Given the description of an element on the screen output the (x, y) to click on. 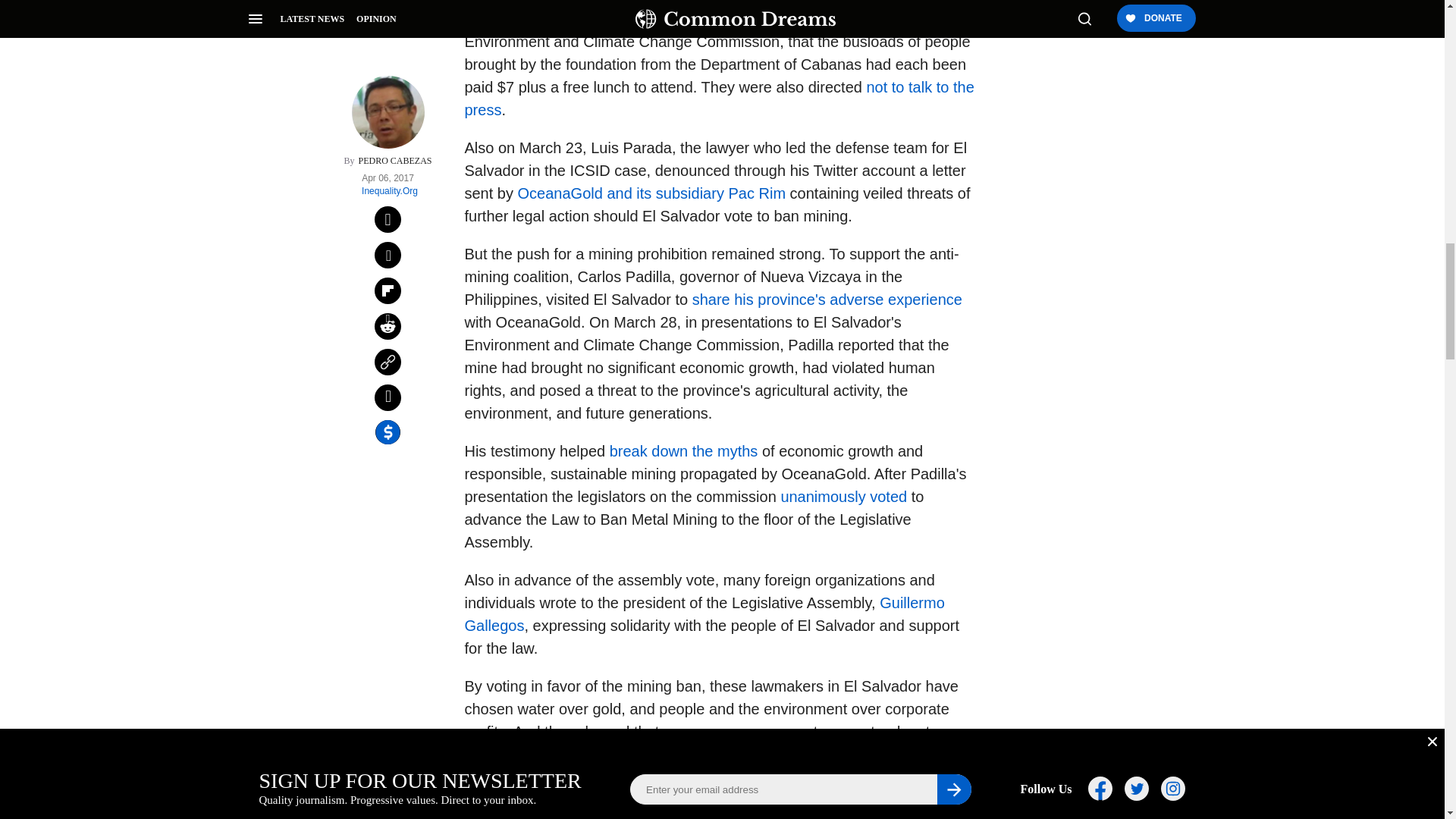
not to talk to the press (719, 97)
later reported (541, 18)
Guillermo Gallegos (703, 613)
unanimously voted (843, 496)
share his province's adverse experience (827, 299)
OceanaGold and its subsidiary P (628, 193)
break down the myths (684, 451)
ac Rim (762, 193)
